Given the description of an element on the screen output the (x, y) to click on. 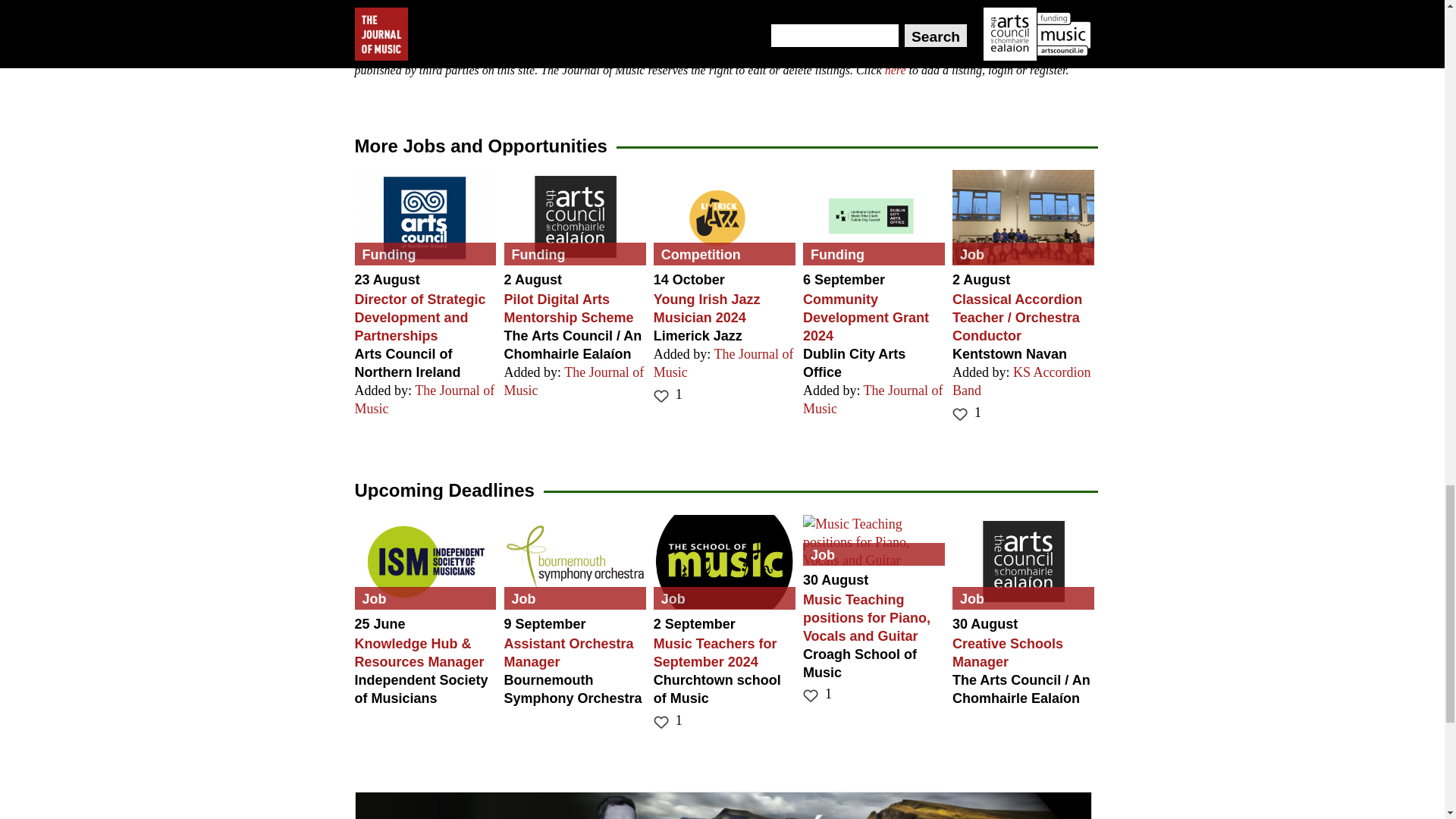
Community Development Grant 2024 (873, 216)
Young Irish Jazz Musician 2024 (723, 216)
Pilot Digital Arts Mentorship Scheme (574, 216)
Director of Strategic Development and Partnerships (425, 216)
Music Teachers for September 2024 (723, 562)
Assistant Orchestra Manager (574, 562)
 Music Teaching positions for  Piano, Vocals and Guitar (873, 542)
Creative Schools Manager (1023, 562)
